Given the description of an element on the screen output the (x, y) to click on. 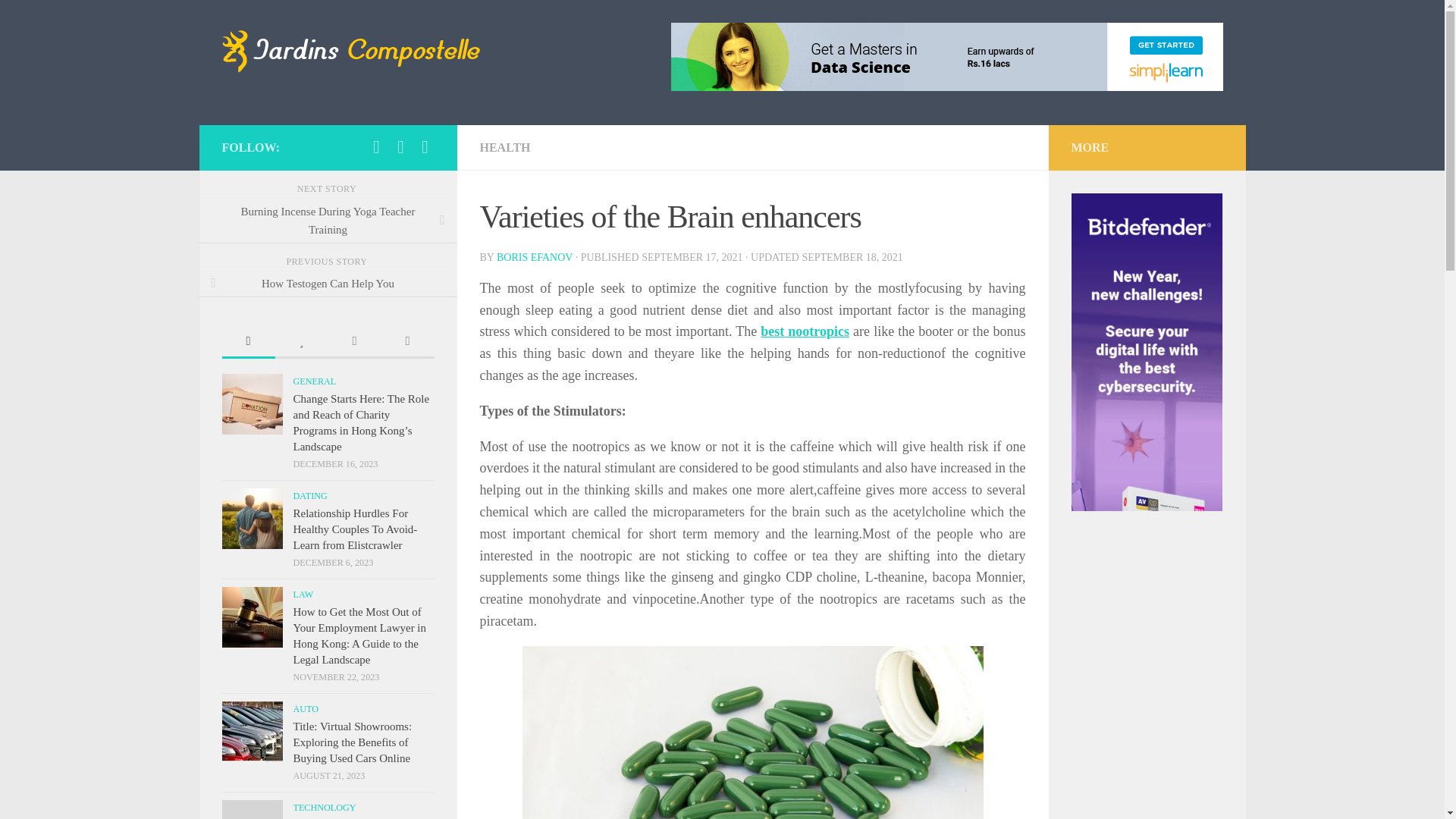
LAW (302, 593)
DATING (309, 495)
HEALTH (504, 146)
Popular Posts (301, 341)
BORIS EFANOV (534, 256)
AUTO (305, 708)
Follow us on Instagram (375, 147)
GENERAL (314, 380)
Follow us on Twitter (400, 147)
Recent Posts (248, 341)
Burning Incense During Yoga Teacher Training (327, 220)
best nootropics (804, 331)
